Given the description of an element on the screen output the (x, y) to click on. 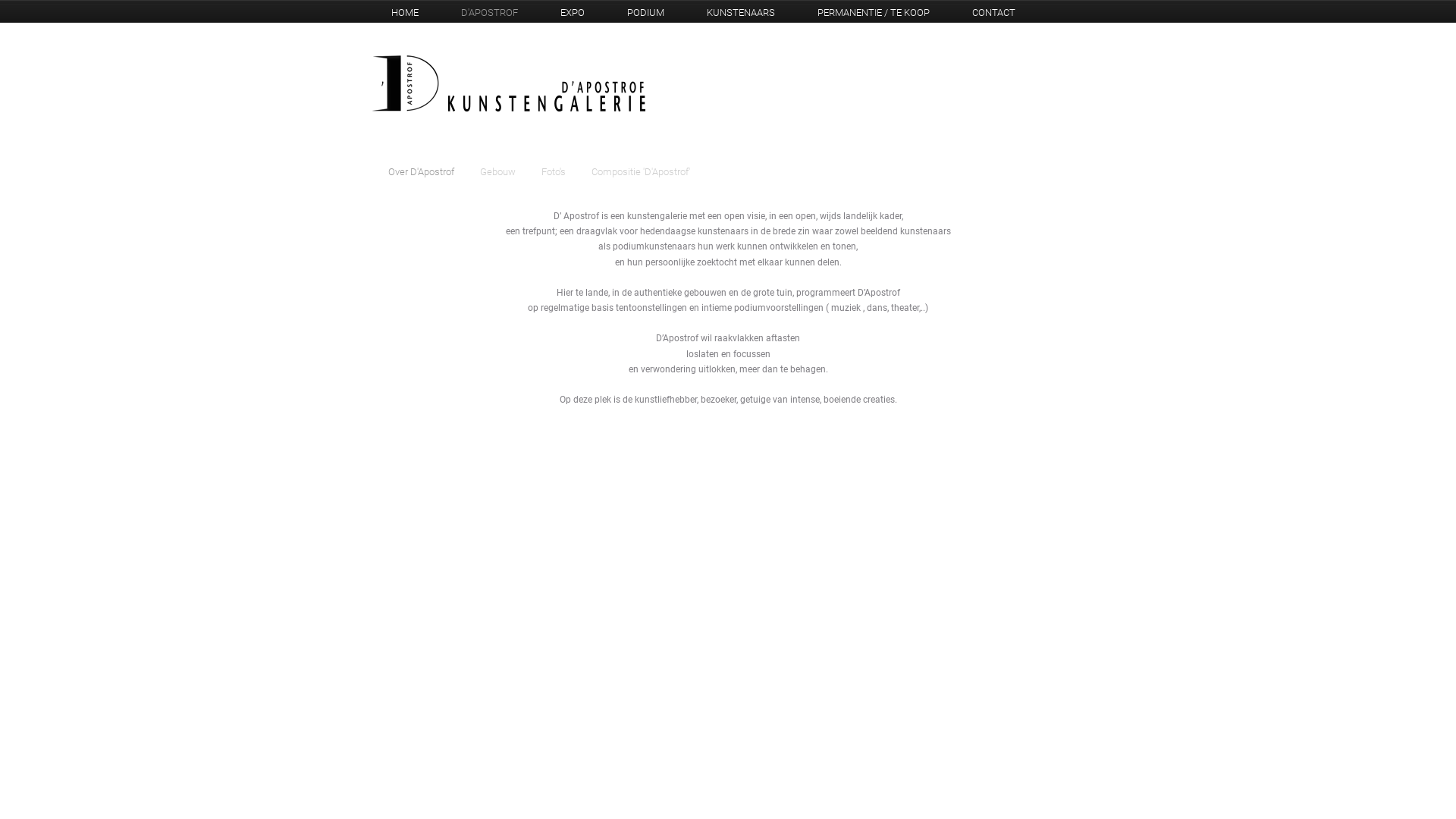
KUNSTENAARS Element type: text (740, 12)
Foto's Element type: text (553, 171)
PERMANENTIE / TE KOOP Element type: text (873, 12)
Gebouw Element type: text (497, 171)
Over D'Apostrof Element type: text (421, 171)
D'APOSTROF Element type: text (489, 12)
CONTACT Element type: text (993, 12)
EXPO Element type: text (572, 12)
Compositie 'D'Apostrof' Element type: text (640, 171)
HOME Element type: text (404, 12)
PODIUM Element type: text (645, 12)
